Given the description of an element on the screen output the (x, y) to click on. 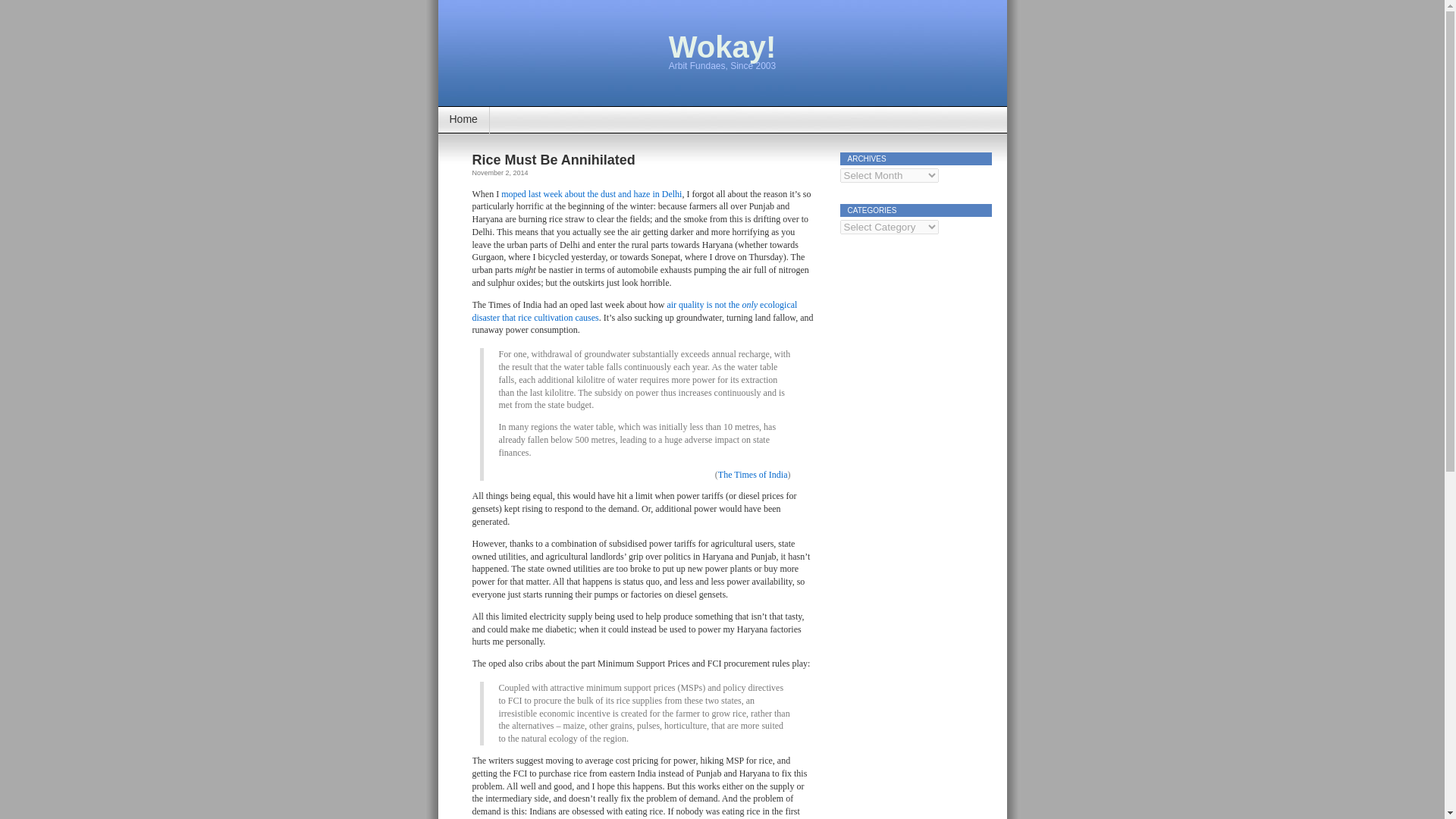
moped last week about the dust and haze in Delhi (590, 193)
Wokay! (722, 46)
The Times of India (752, 474)
Rice Must Be Annihilated (552, 159)
Home (463, 120)
Permanent Link to Rice Must Be Annihilated (552, 159)
